Given the description of an element on the screen output the (x, y) to click on. 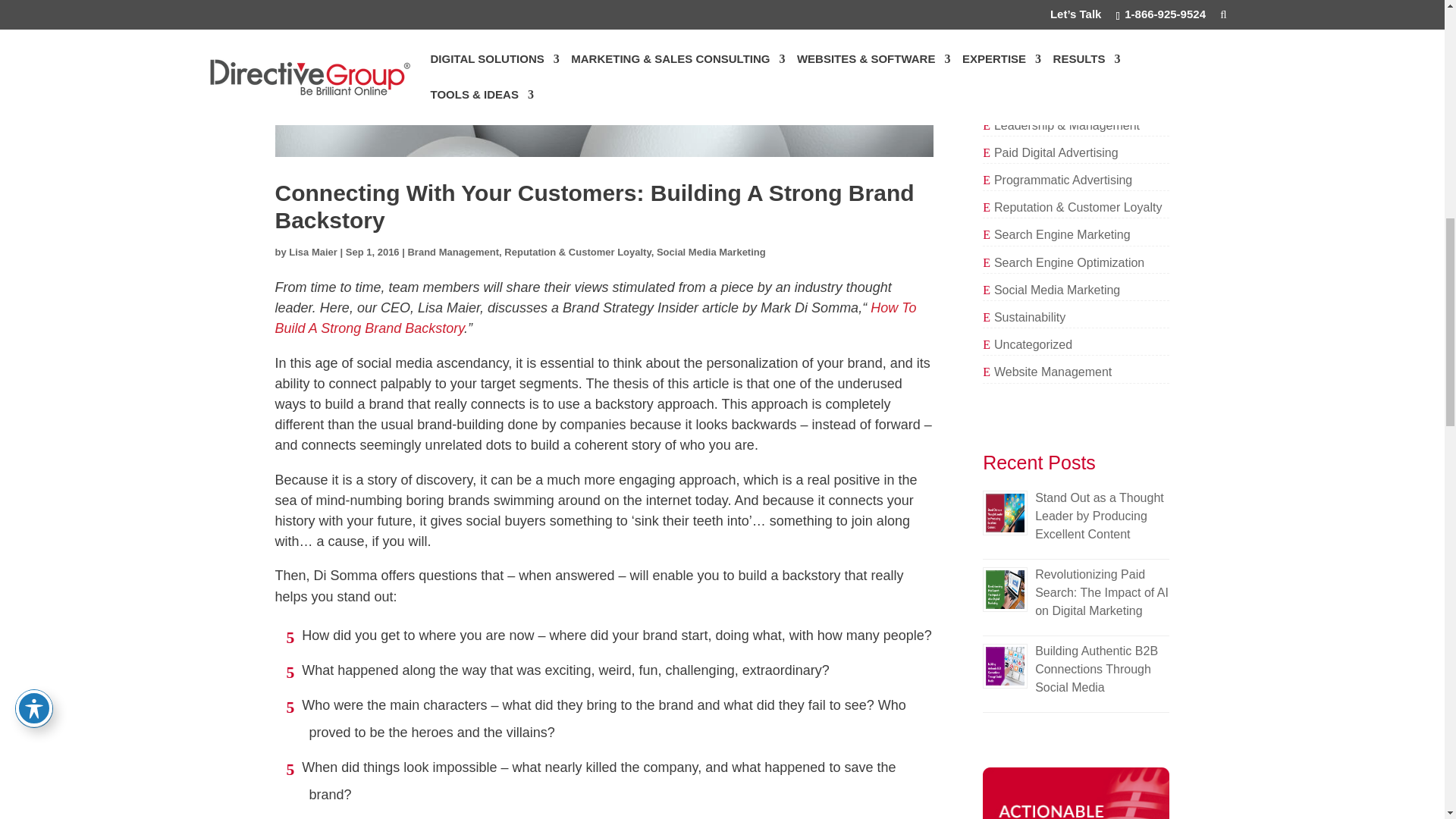
Posts by Lisa Maier (312, 251)
Stand Out as a Thought Leader by Producing Excellent Content (1099, 515)
Building Authentic B2B Connections Through Social Media (1096, 668)
